Given the description of an element on the screen output the (x, y) to click on. 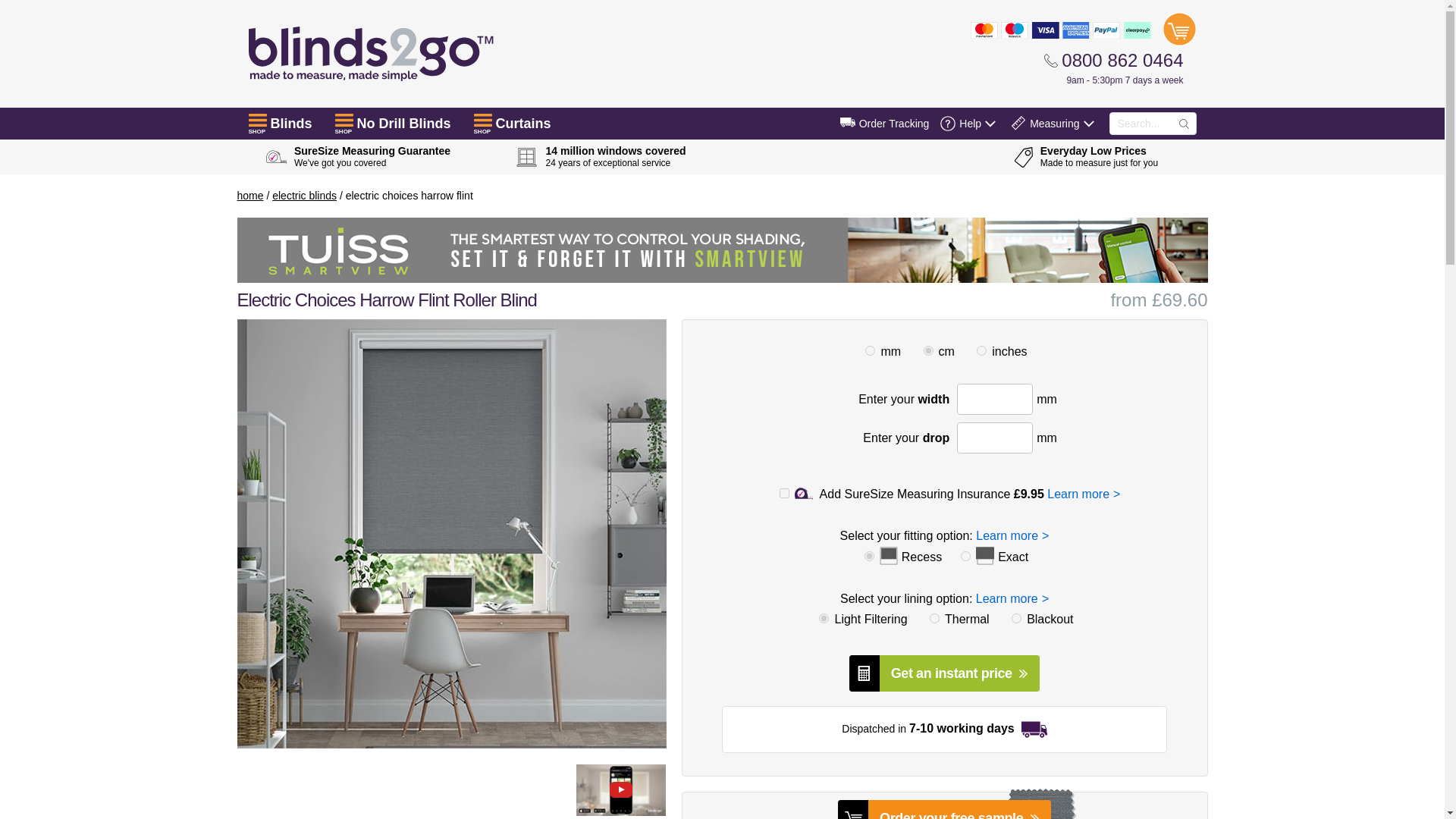
3 (928, 350)
burger icon (483, 119)
on (783, 492)
241 (1016, 618)
E (965, 556)
2 (981, 350)
242 (934, 618)
burger icon (343, 119)
white down arrow icon (990, 122)
R (869, 556)
